Given the description of an element on the screen output the (x, y) to click on. 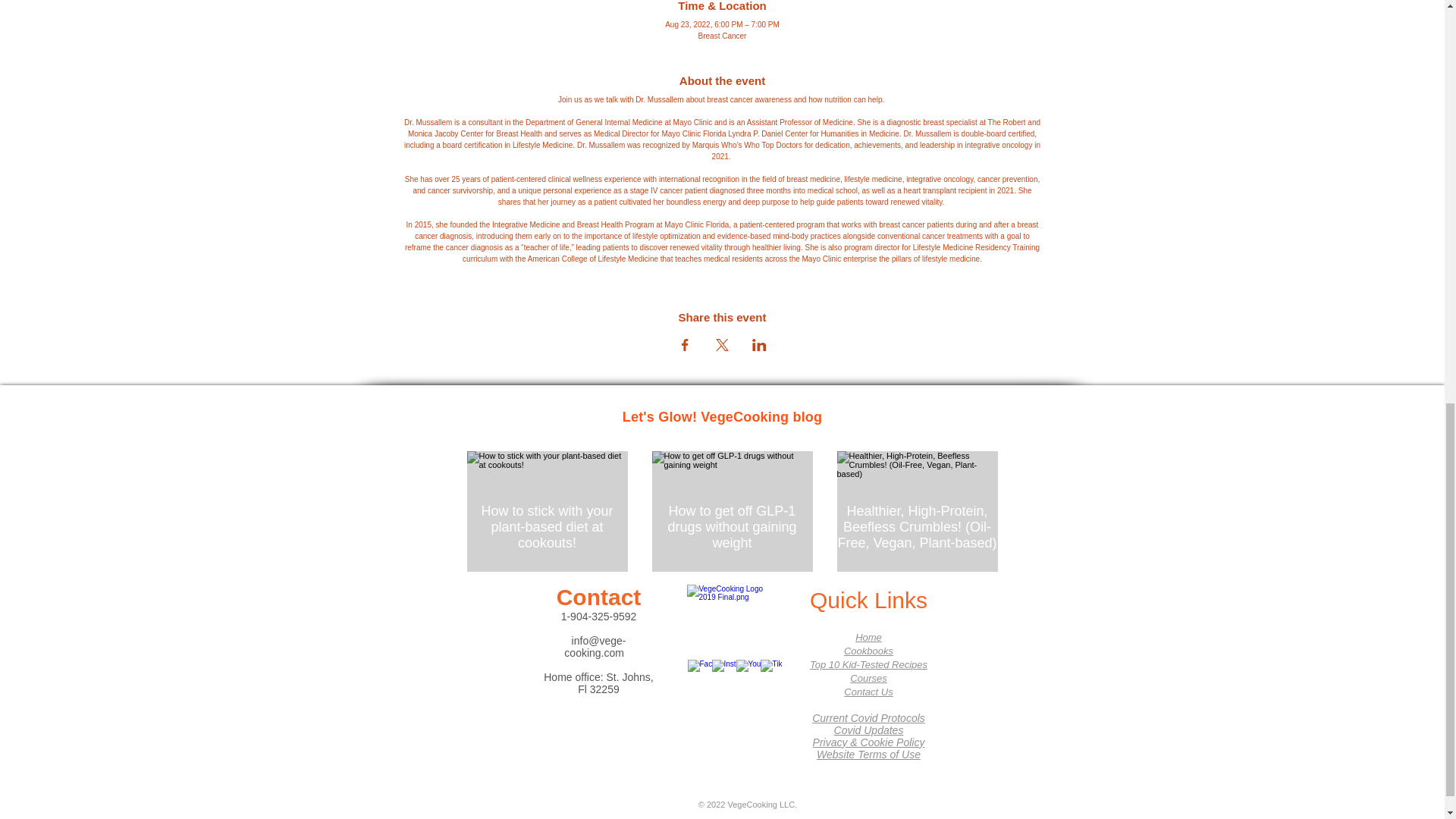
Home (869, 636)
Courses (868, 677)
How to stick with your plant-based diet at cookouts! (547, 526)
How to get off GLP-1 drugs without gaining weight (732, 526)
Cookbooks (868, 650)
Covid Updates (869, 729)
Current Covid Protocols (868, 723)
Top 10 Kid-Tested Recipes (868, 664)
Contact Us (868, 691)
